Given the description of an element on the screen output the (x, y) to click on. 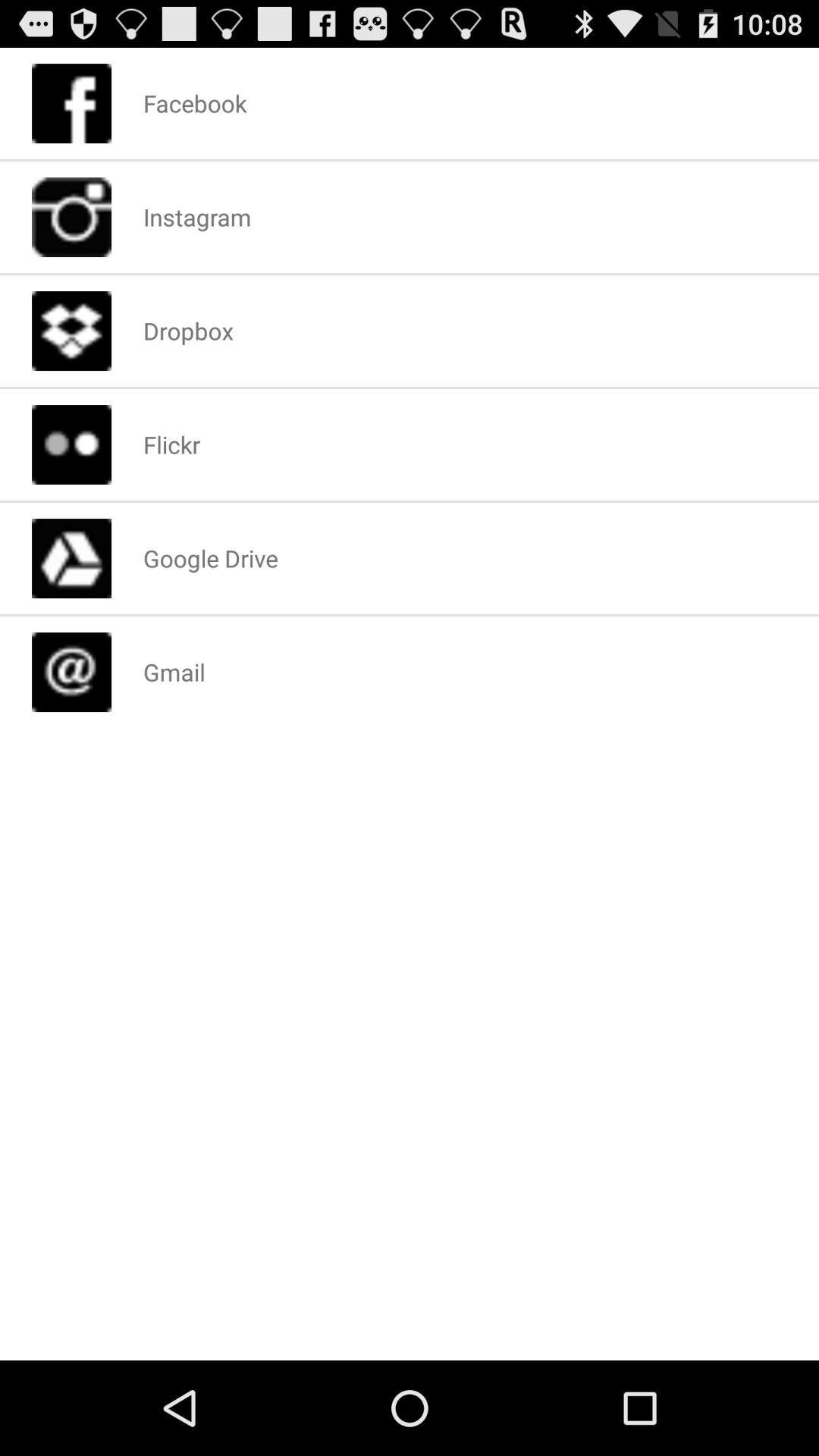
turn off the flickr (171, 444)
